Given the description of an element on the screen output the (x, y) to click on. 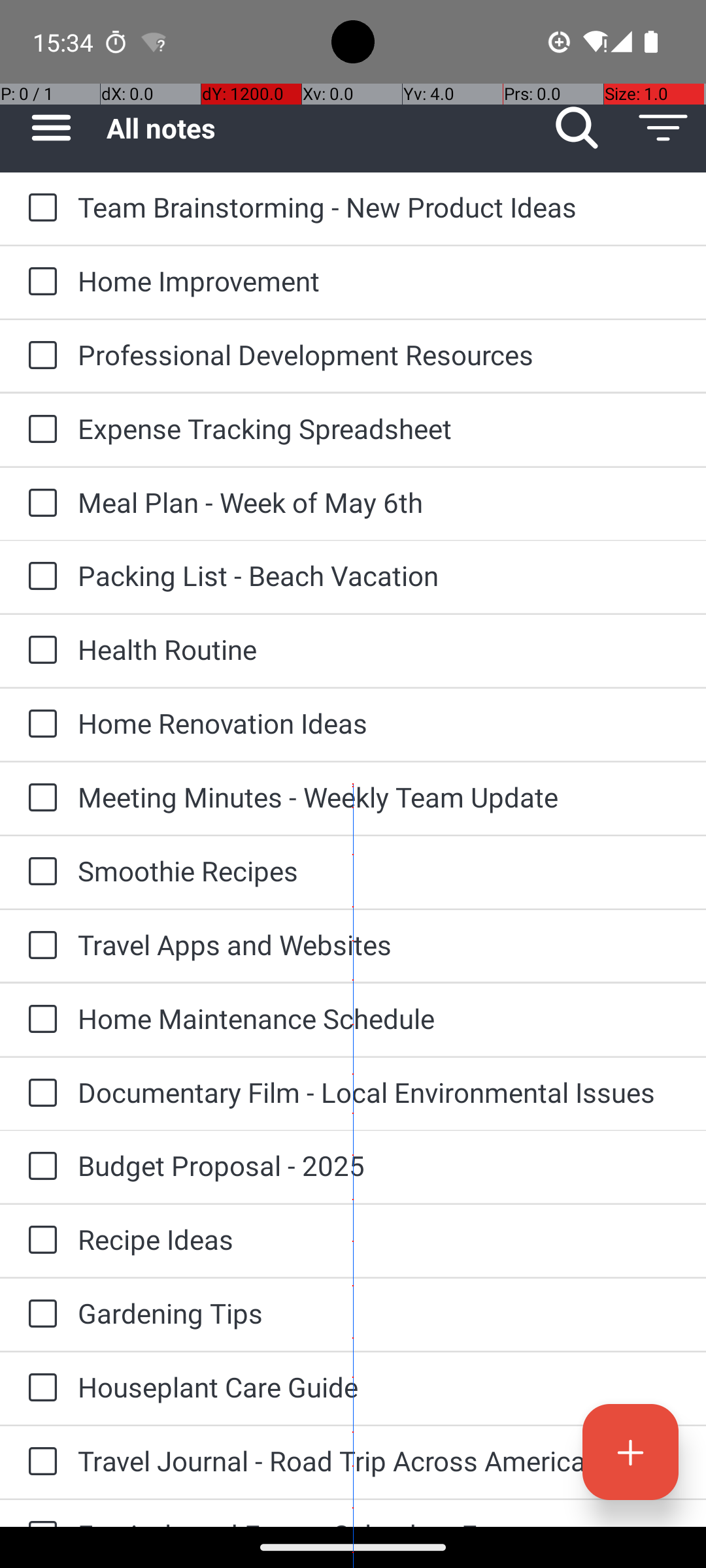
to-do: Team Brainstorming - New Product Ideas Element type: android.widget.CheckBox (38, 208)
Team Brainstorming - New Product Ideas Element type: android.widget.TextView (378, 206)
to-do: Home Improvement Element type: android.widget.CheckBox (38, 282)
Home Improvement Element type: android.widget.TextView (378, 280)
to-do: Professional Development Resources Element type: android.widget.CheckBox (38, 356)
Professional Development Resources Element type: android.widget.TextView (378, 354)
to-do: Meal Plan - Week of May 6th Element type: android.widget.CheckBox (38, 503)
to-do: Packing List - Beach Vacation Element type: android.widget.CheckBox (38, 576)
to-do: Home Renovation Ideas Element type: android.widget.CheckBox (38, 724)
to-do: Smoothie Recipes Element type: android.widget.CheckBox (38, 872)
Smoothie Recipes Element type: android.widget.TextView (378, 870)
to-do: Travel Apps and Websites Element type: android.widget.CheckBox (38, 945)
Travel Apps and Websites Element type: android.widget.TextView (378, 944)
to-do: Documentary Film - Local Environmental Issues Element type: android.widget.CheckBox (38, 1093)
Documentary Film - Local Environmental Issues Element type: android.widget.TextView (378, 1091)
to-do: Budget Proposal - 2025 Element type: android.widget.CheckBox (38, 1166)
Budget Proposal - 2025 Element type: android.widget.TextView (378, 1164)
to-do: Recipe Ideas Element type: android.widget.CheckBox (38, 1240)
Recipe Ideas Element type: android.widget.TextView (378, 1238)
to-do: Houseplant Care Guide Element type: android.widget.CheckBox (38, 1388)
Houseplant Care Guide Element type: android.widget.TextView (378, 1386)
to-do: Travel Journal - Road Trip Across America Element type: android.widget.CheckBox (38, 1462)
Travel Journal - Road Trip Across America Element type: android.widget.TextView (378, 1460)
to-do: Festivals and Events Calendar - Europe Element type: android.widget.CheckBox (38, 1513)
Festivals and Events Calendar - Europe Element type: android.widget.TextView (378, 1520)
